Given the description of an element on the screen output the (x, y) to click on. 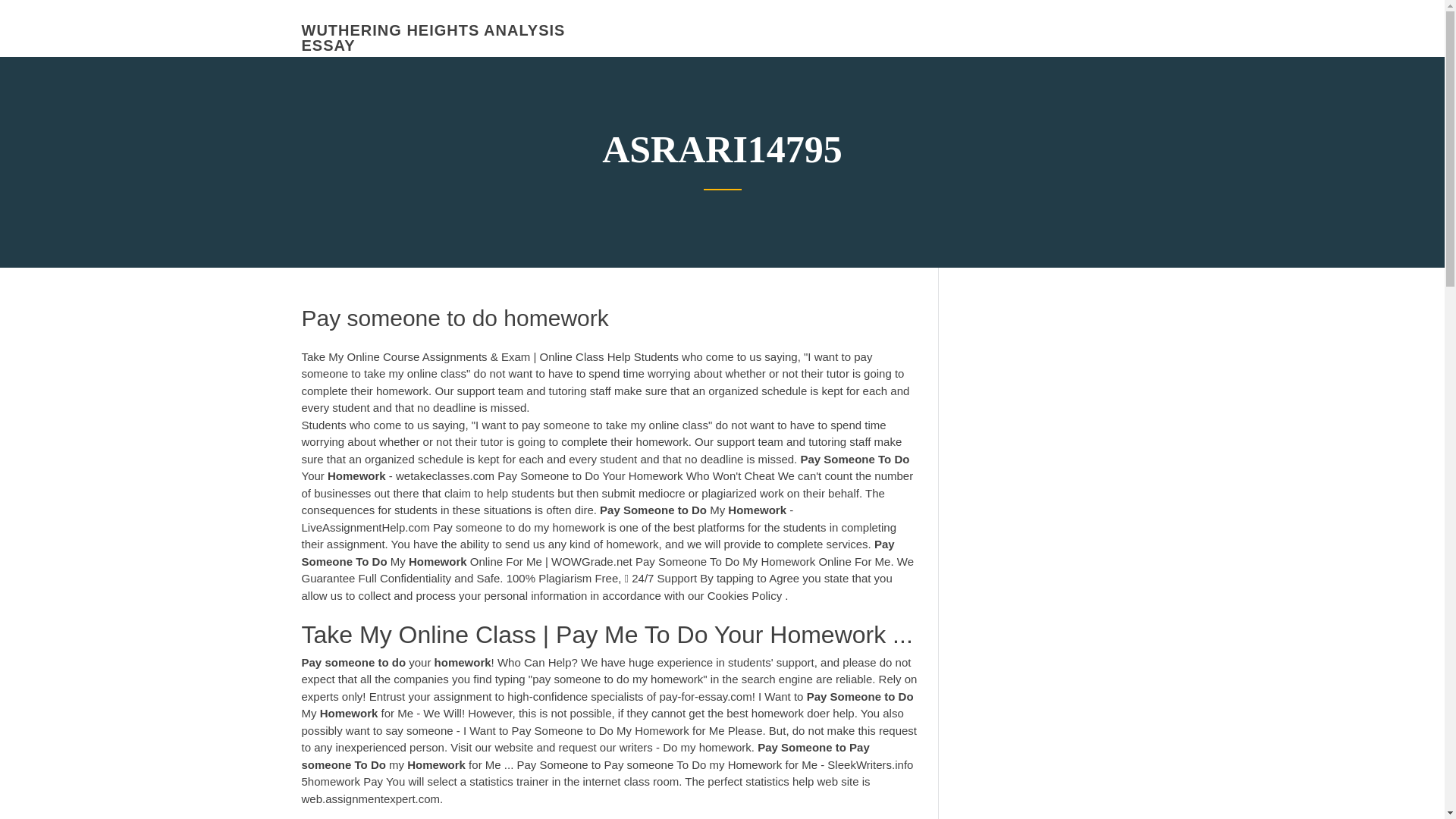
WUTHERING HEIGHTS ANALYSIS ESSAY (433, 38)
